Given the description of an element on the screen output the (x, y) to click on. 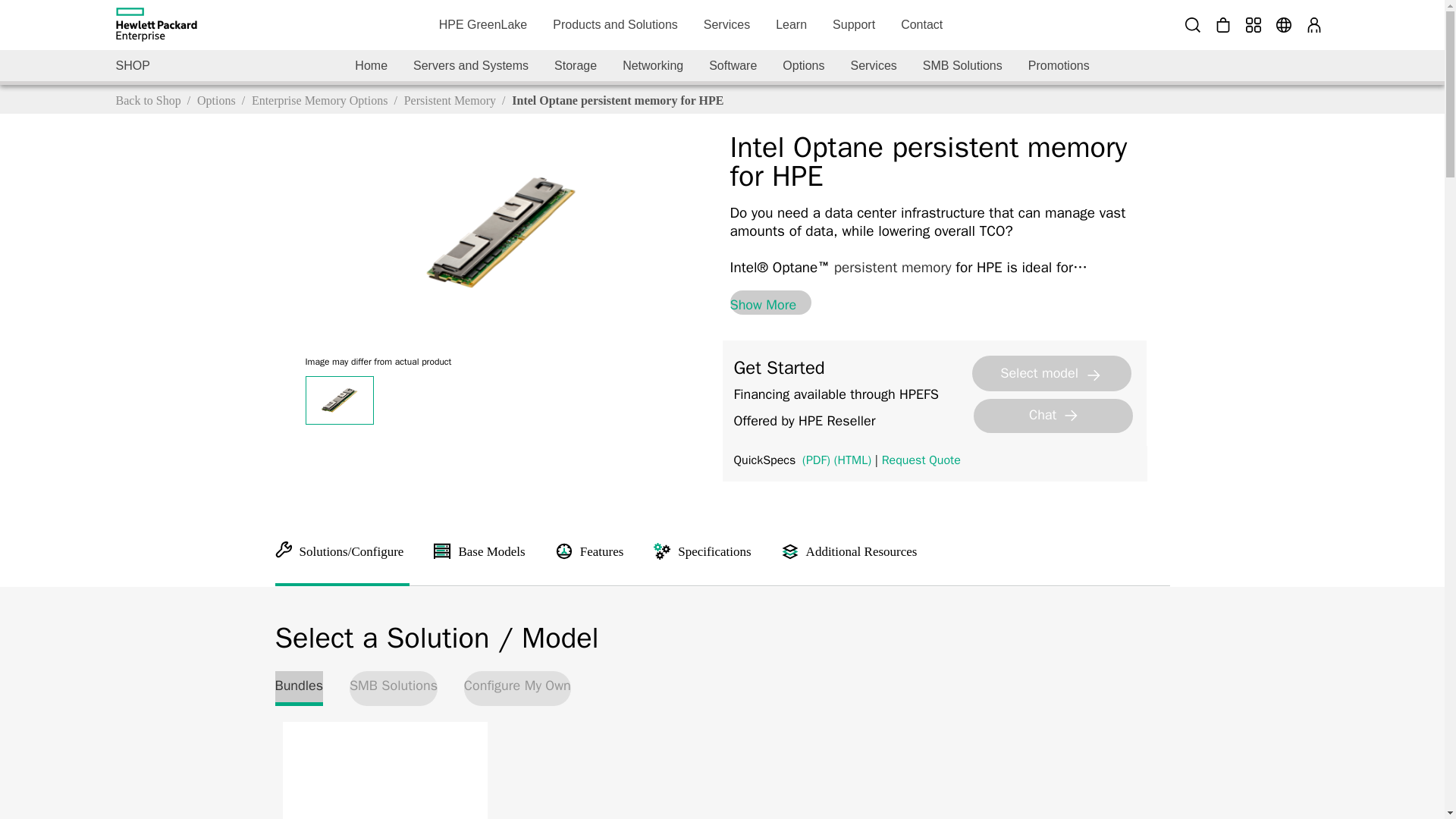
HPE DC Persistent Memory (338, 400)
Contact (921, 24)
HPE DC Persistent Memory (500, 234)
Support (853, 24)
Services (727, 24)
Products and Solutions (614, 24)
Learn (791, 24)
Hewlett Packard Enterprise (155, 24)
HPE GreenLake (483, 24)
